Given the description of an element on the screen output the (x, y) to click on. 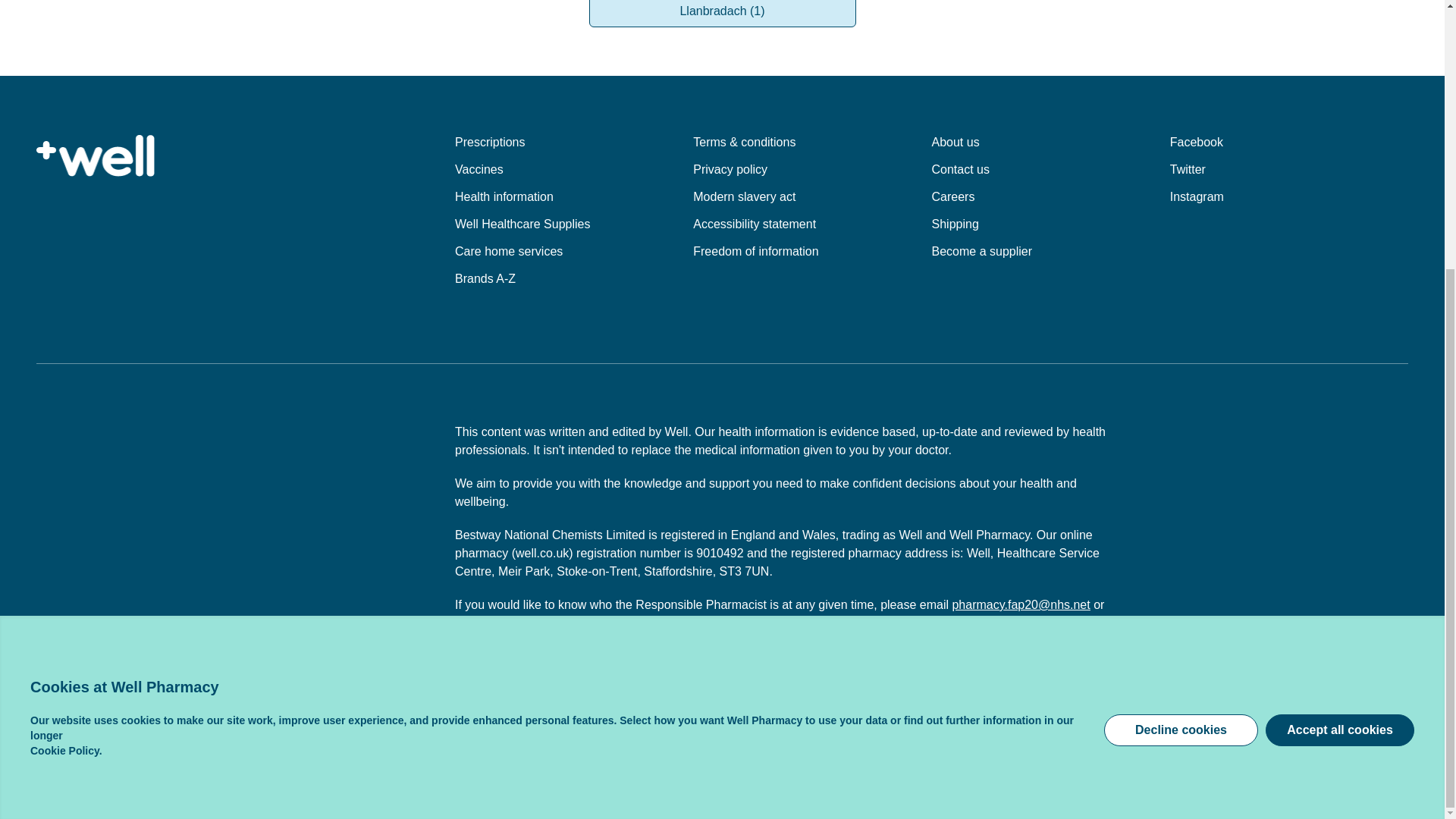
Footer Logo (95, 155)
Careers (952, 196)
Well Healthcare Supplies (521, 223)
Prescriptions (489, 141)
Freedom of information (755, 250)
Twitter (1286, 169)
Shipping (954, 223)
footer-icons (1077, 788)
Instagram (1286, 196)
Become a supplier (981, 250)
footer-icons (1369, 788)
Health information (503, 196)
footer-icons (1155, 788)
Vaccines (478, 169)
Privacy policy (730, 169)
